Given the description of an element on the screen output the (x, y) to click on. 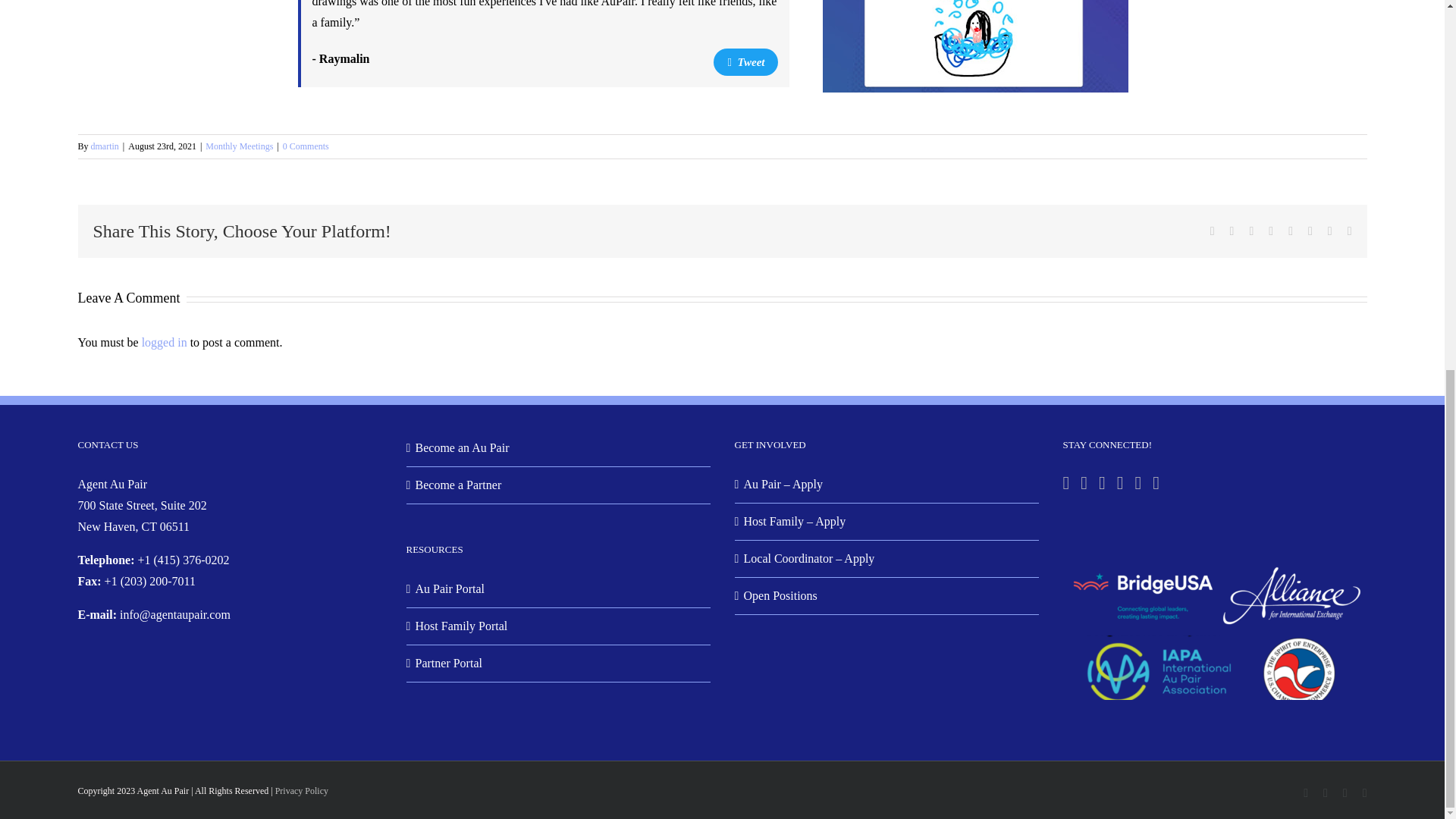
Posts by dmartin (104, 145)
